Given the description of an element on the screen output the (x, y) to click on. 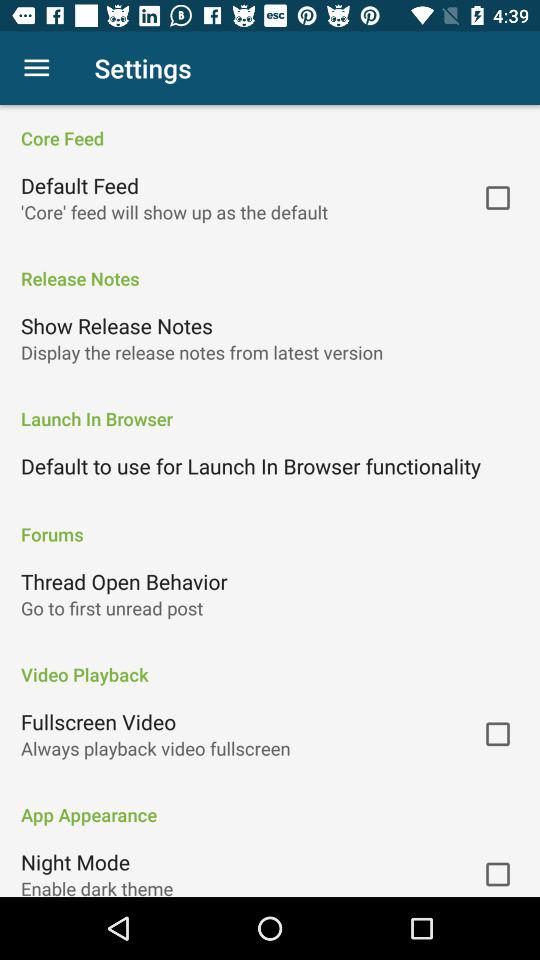
turn off icon above forums icon (251, 465)
